Given the description of an element on the screen output the (x, y) to click on. 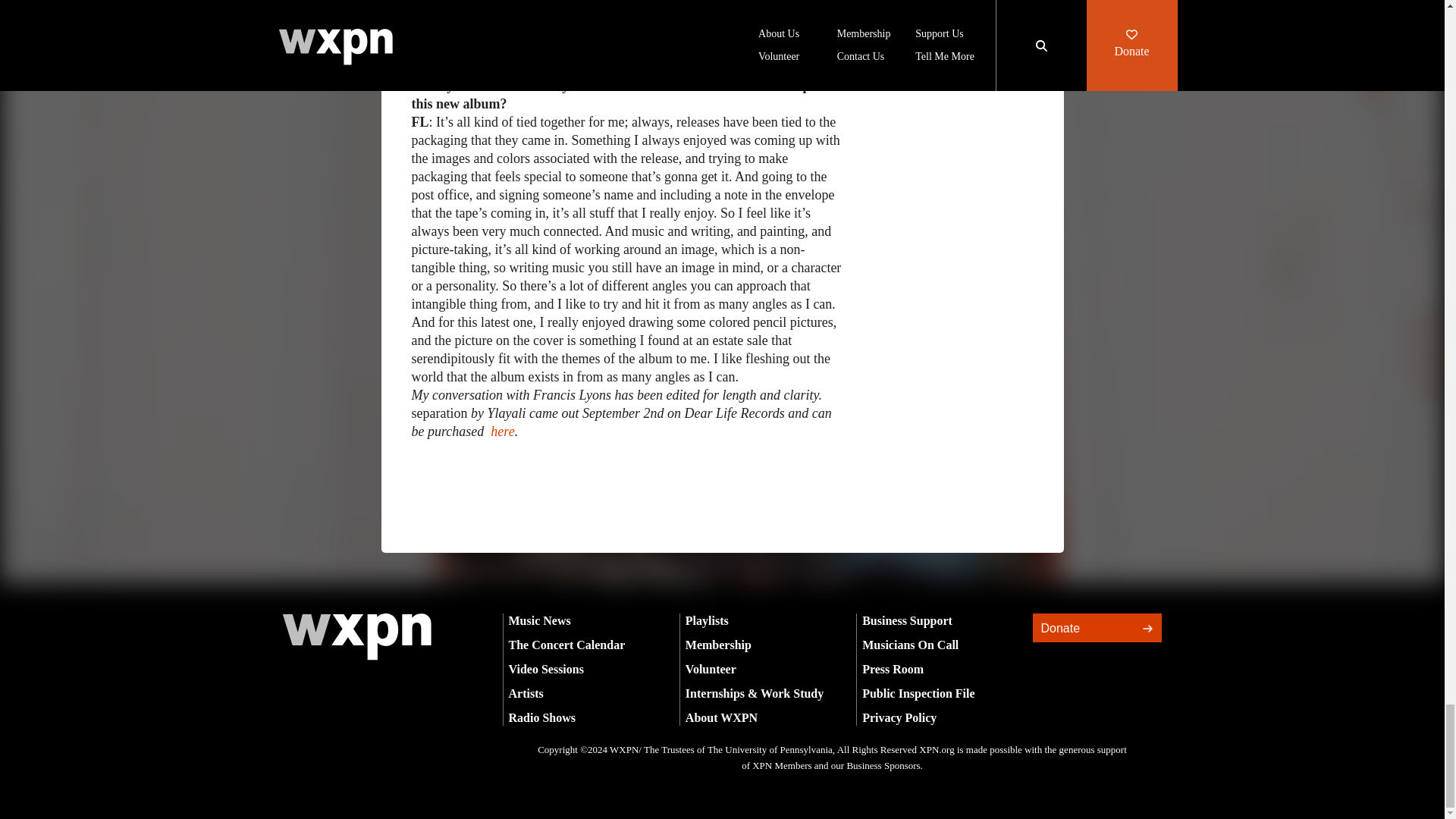
Public Inspection File (917, 692)
Music News (539, 619)
Musicians On Call (909, 644)
Privacy Policy (898, 716)
Membership (718, 644)
Video Sessions (545, 667)
About WXPN (721, 716)
Business Support (906, 619)
Donate (1096, 626)
The Concert Calendar (566, 644)
Radio Shows (541, 716)
Press Room (892, 667)
here (501, 431)
Artists (525, 692)
Volunteer (710, 667)
